Given the description of an element on the screen output the (x, y) to click on. 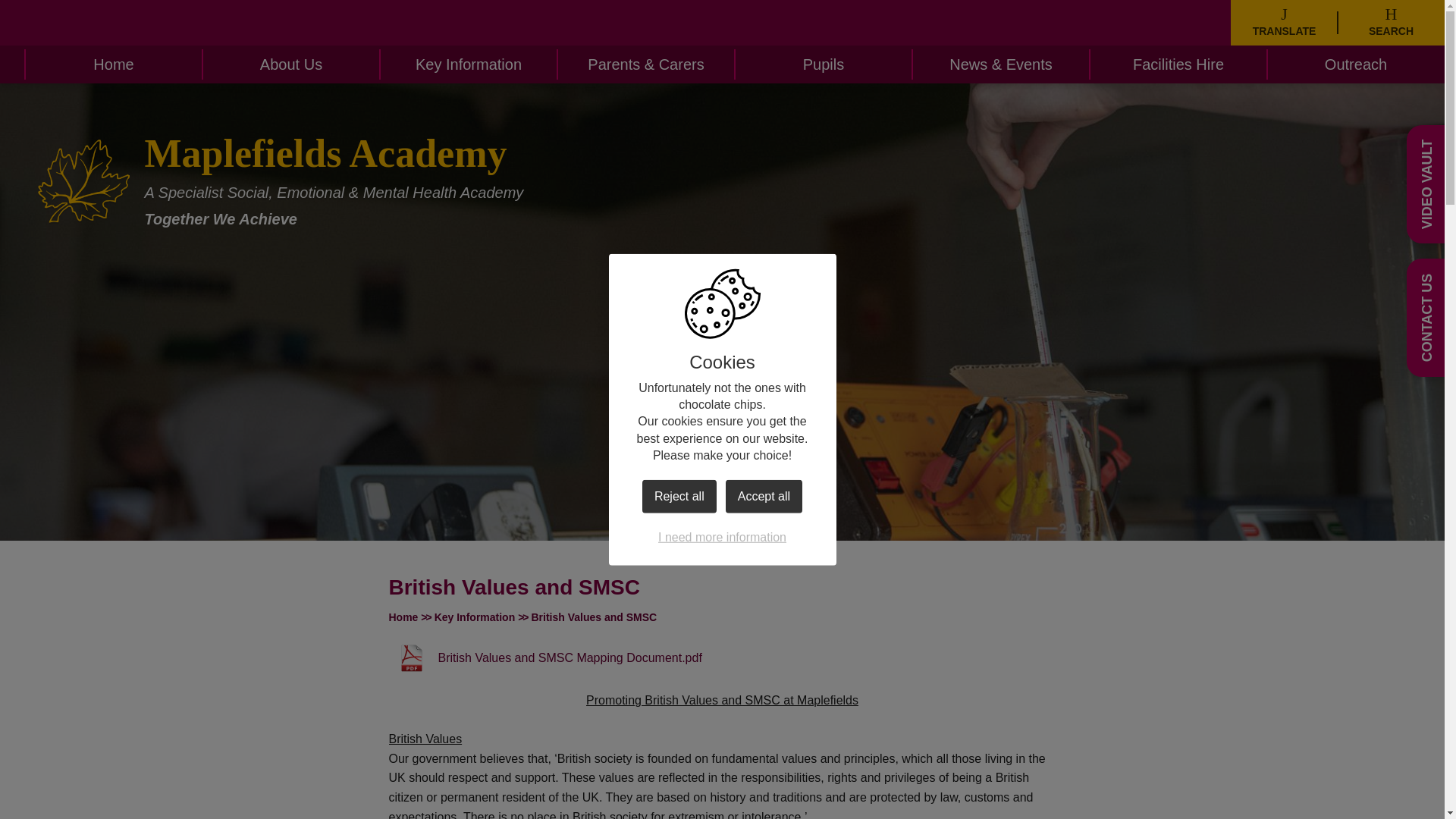
Home (113, 64)
About Us (291, 64)
Home Page (83, 181)
Key Information (468, 64)
